Given the description of an element on the screen output the (x, y) to click on. 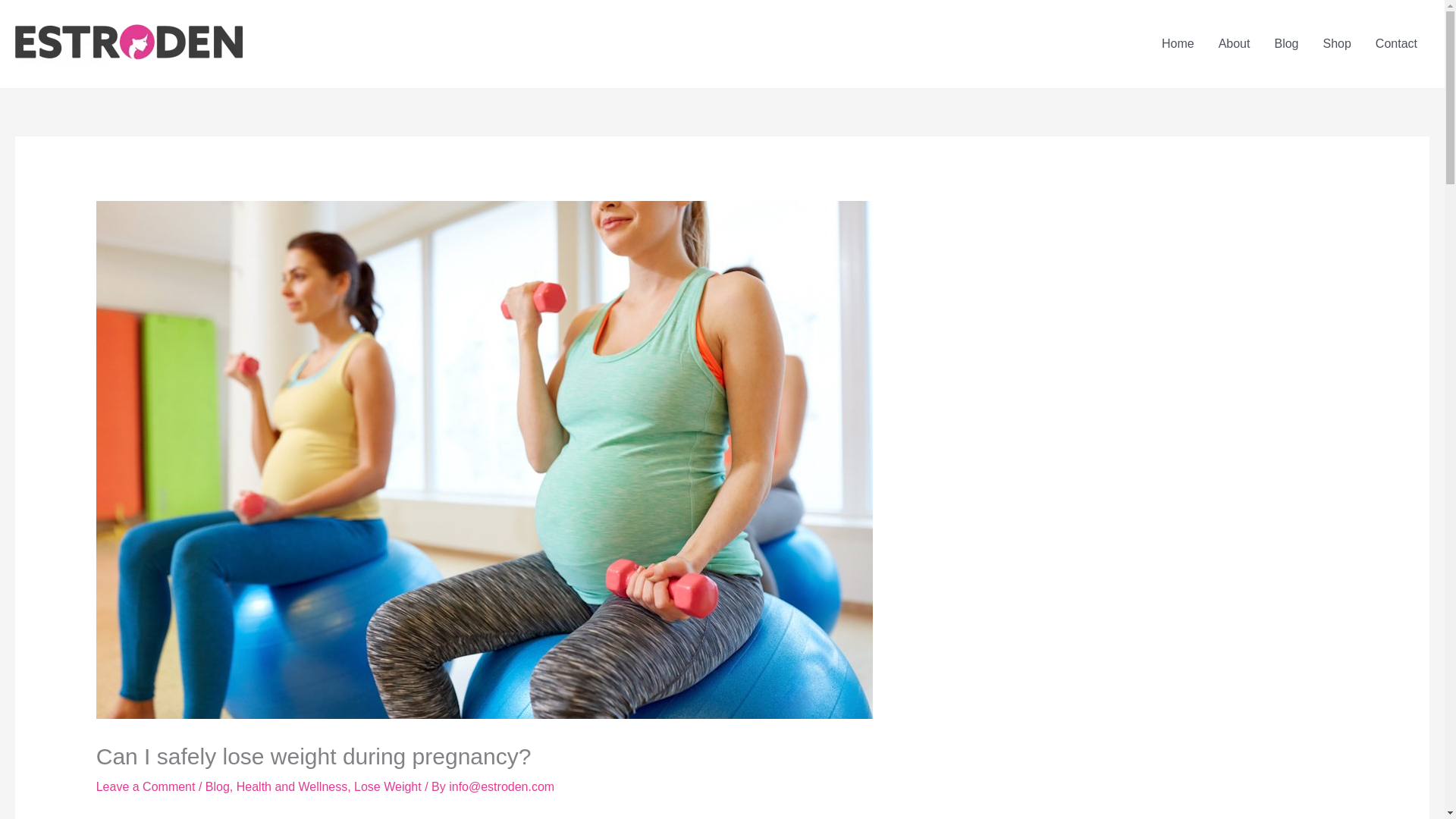
Home (1178, 43)
Lose Weight (387, 786)
Contact (1395, 43)
Blog (1286, 43)
Health and Wellness (291, 786)
Leave a Comment (145, 786)
Blog (217, 786)
Shop (1336, 43)
About (1234, 43)
